Given the description of an element on the screen output the (x, y) to click on. 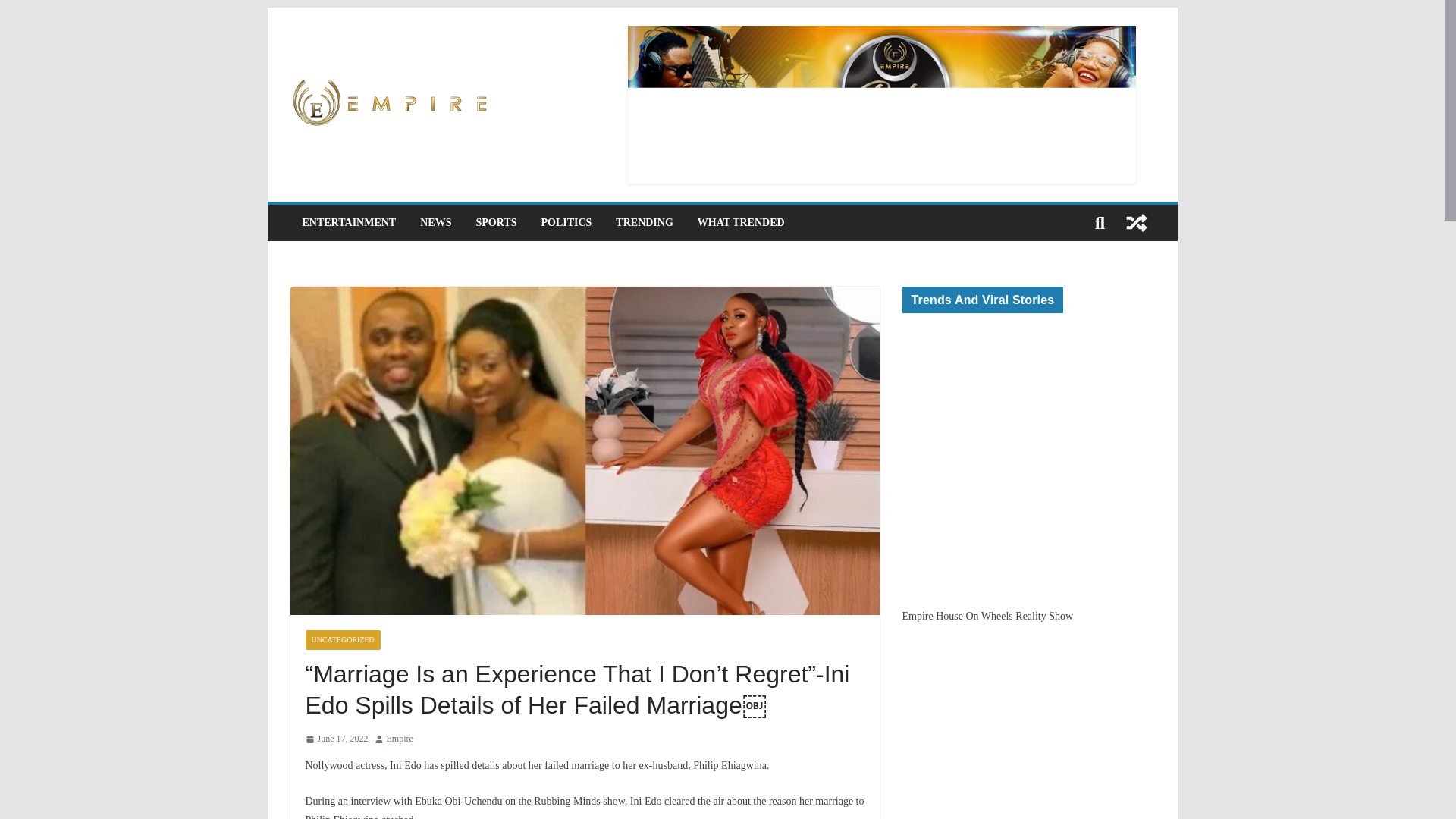
TRENDING (643, 222)
June 17, 2022 (336, 739)
UNCATEGORIZED (342, 639)
POLITICS (565, 222)
WHAT TRENDED (740, 222)
NEWS (435, 222)
View a random post (1136, 222)
SPORTS (496, 222)
ENTERTAINMENT (348, 222)
